Given the description of an element on the screen output the (x, y) to click on. 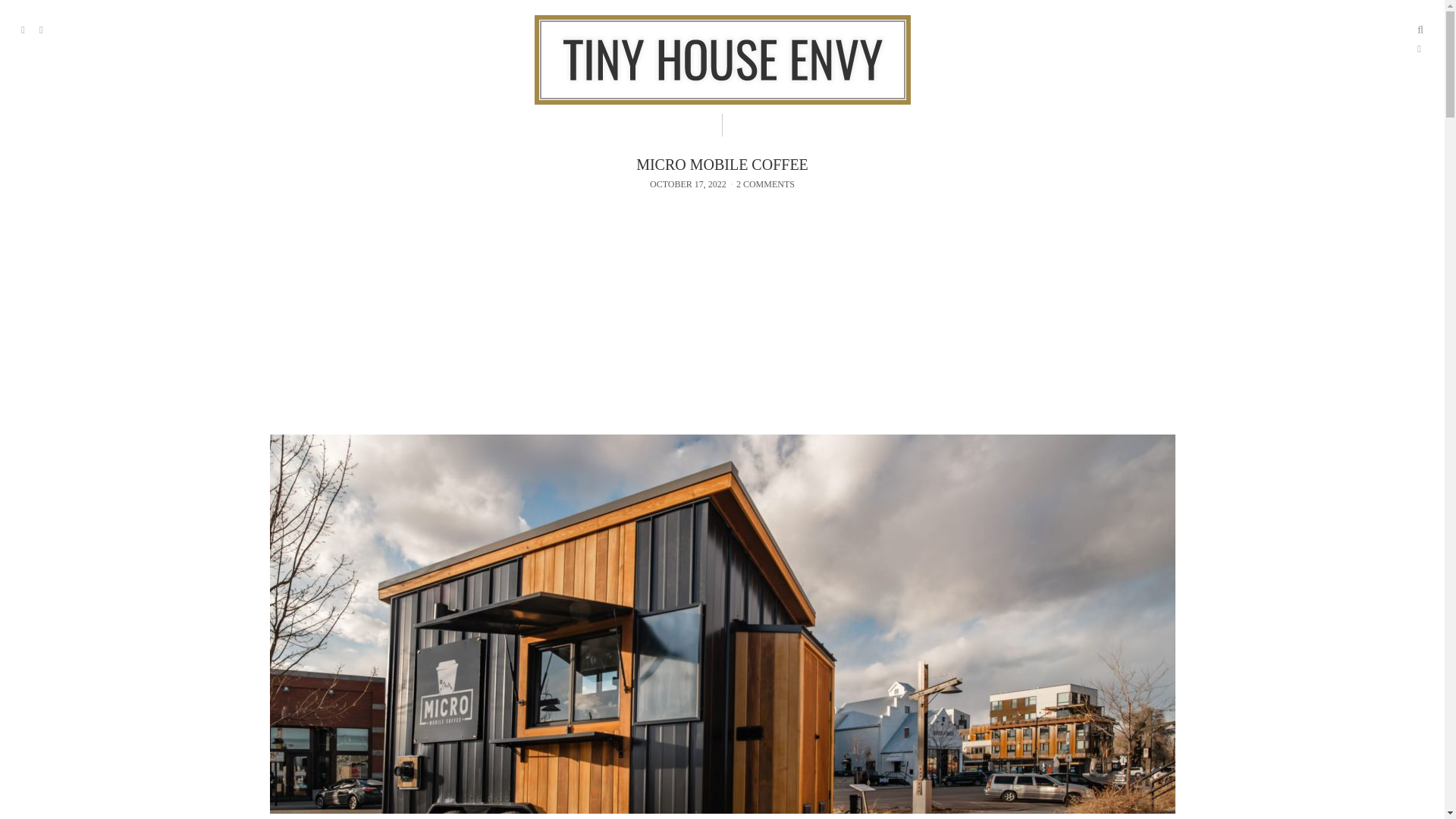
2 COMMENTS (765, 184)
